Given the description of an element on the screen output the (x, y) to click on. 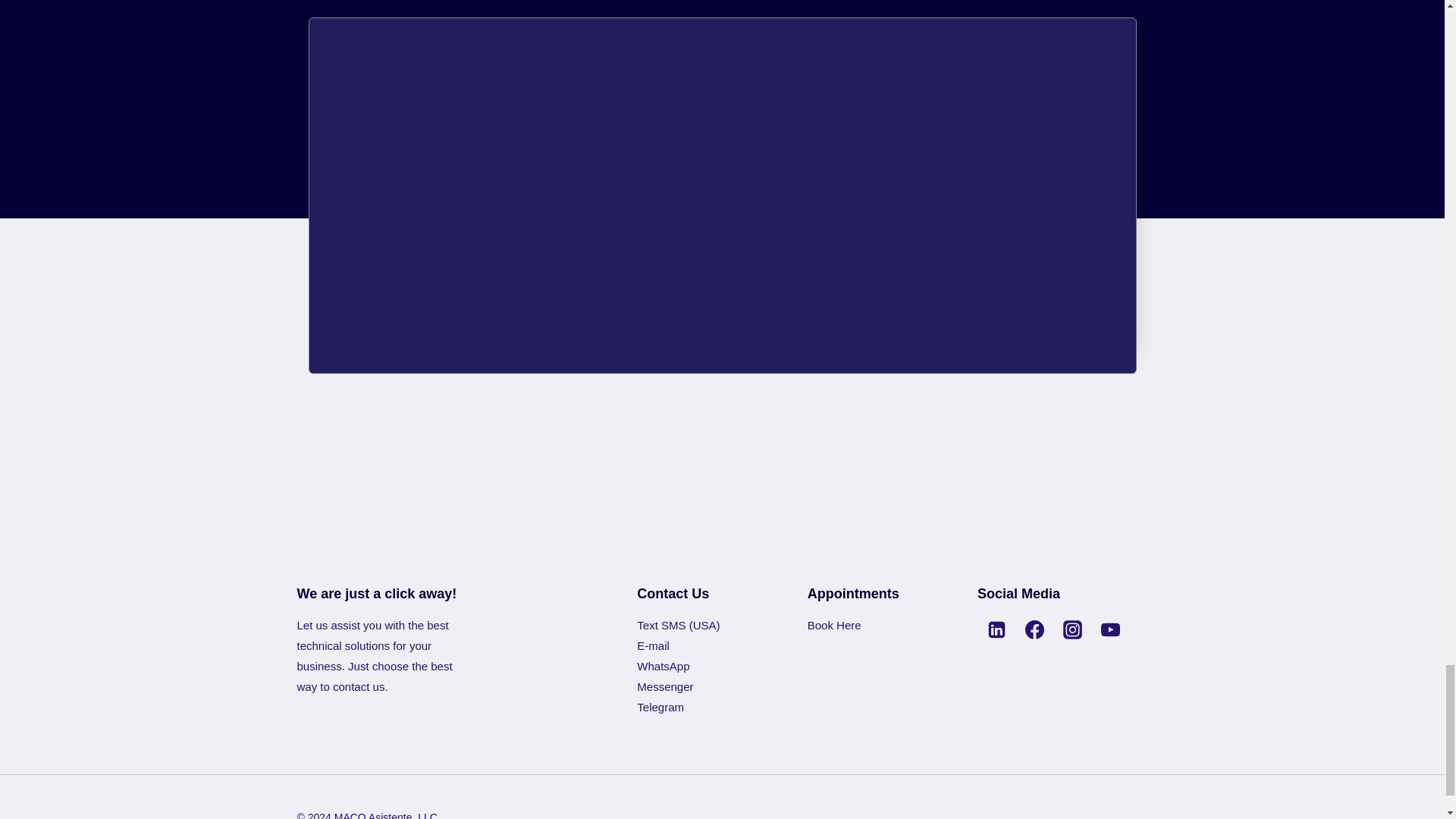
E-mail (653, 645)
Book Here (834, 625)
Messenger (665, 686)
Telegram (660, 707)
WhatsApp (662, 666)
